Given the description of an element on the screen output the (x, y) to click on. 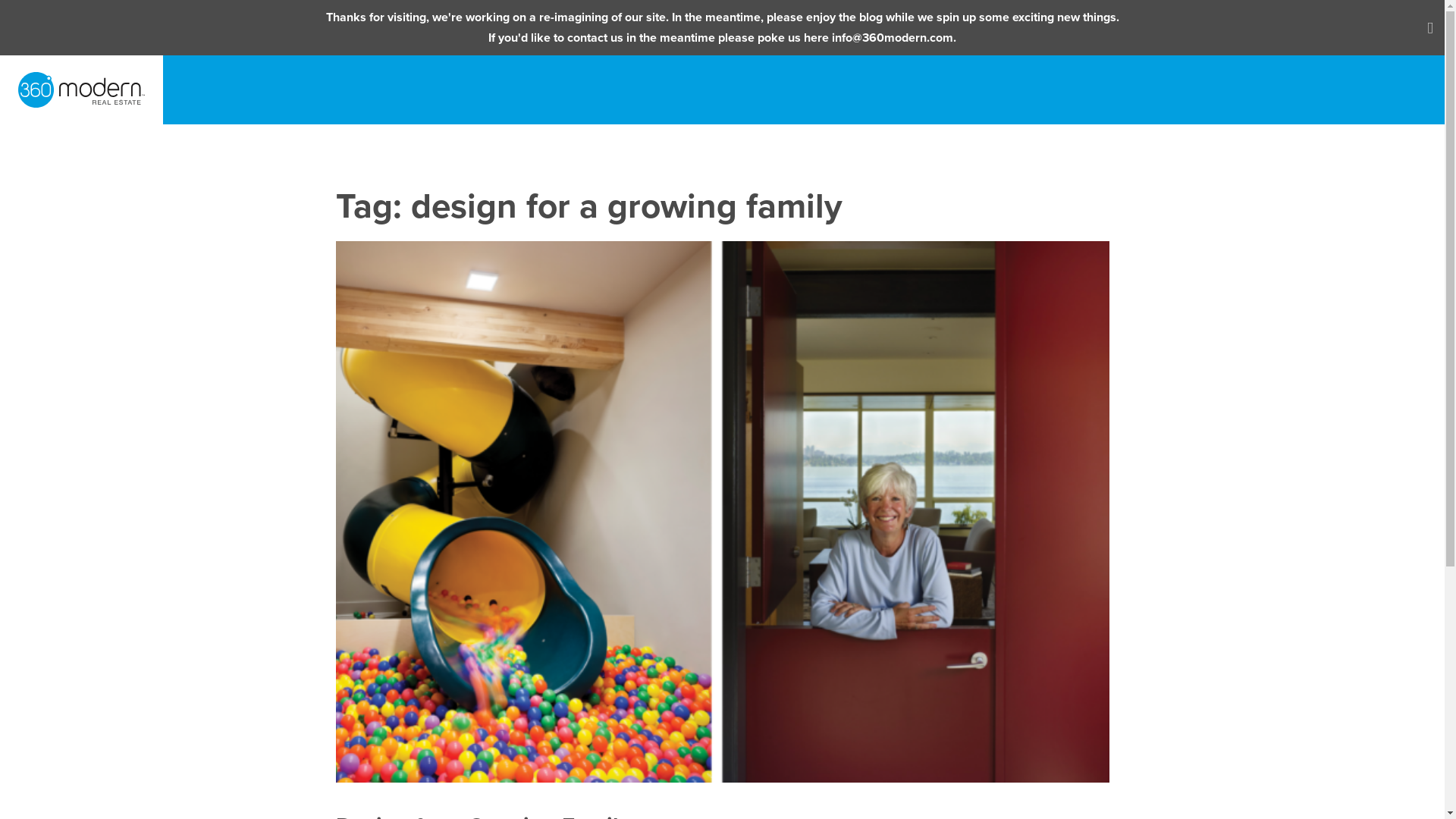
info@360modern.com Element type: text (892, 37)
